Given the description of an element on the screen output the (x, y) to click on. 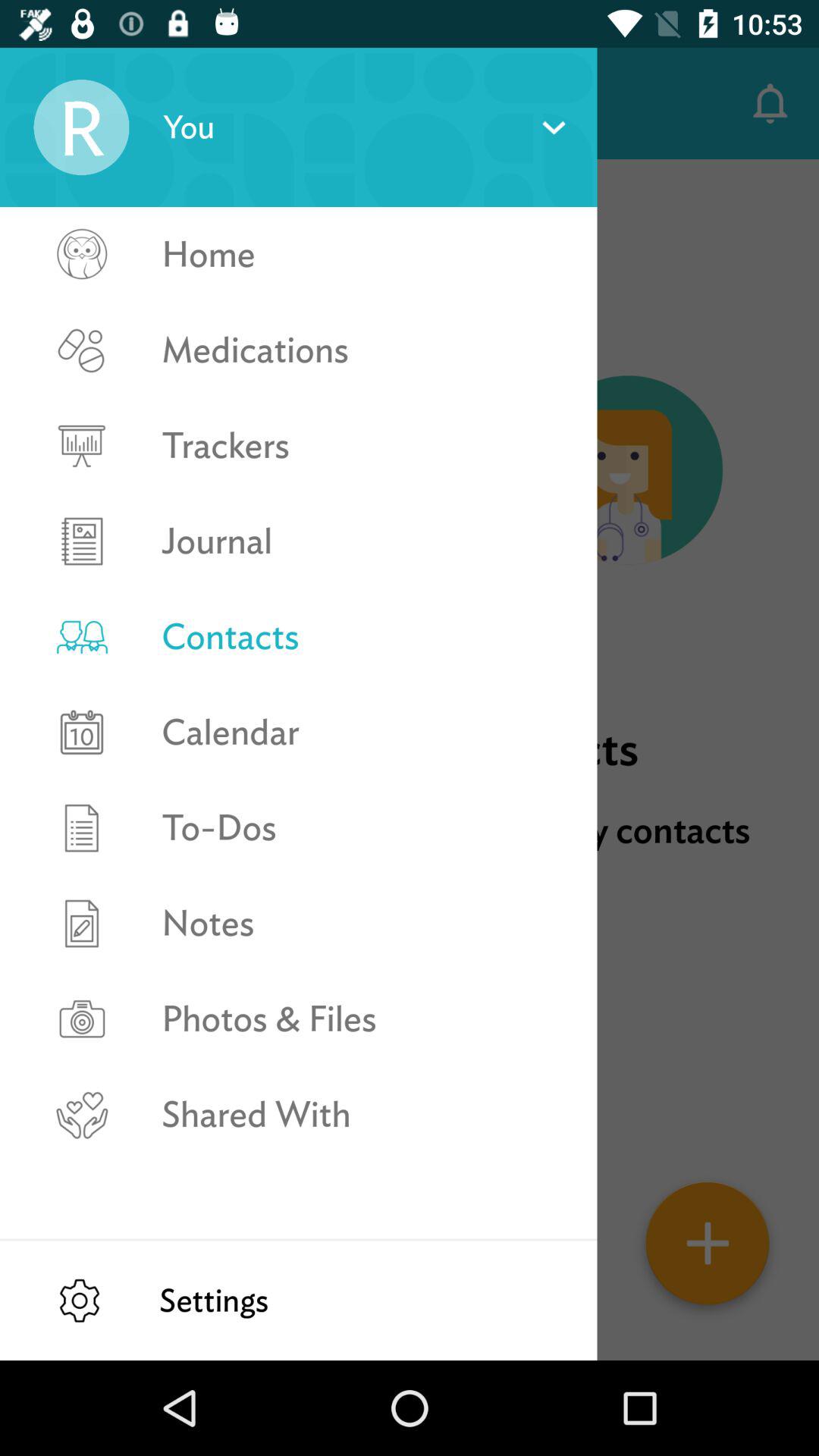
medications selection (81, 397)
